Given the description of an element on the screen output the (x, y) to click on. 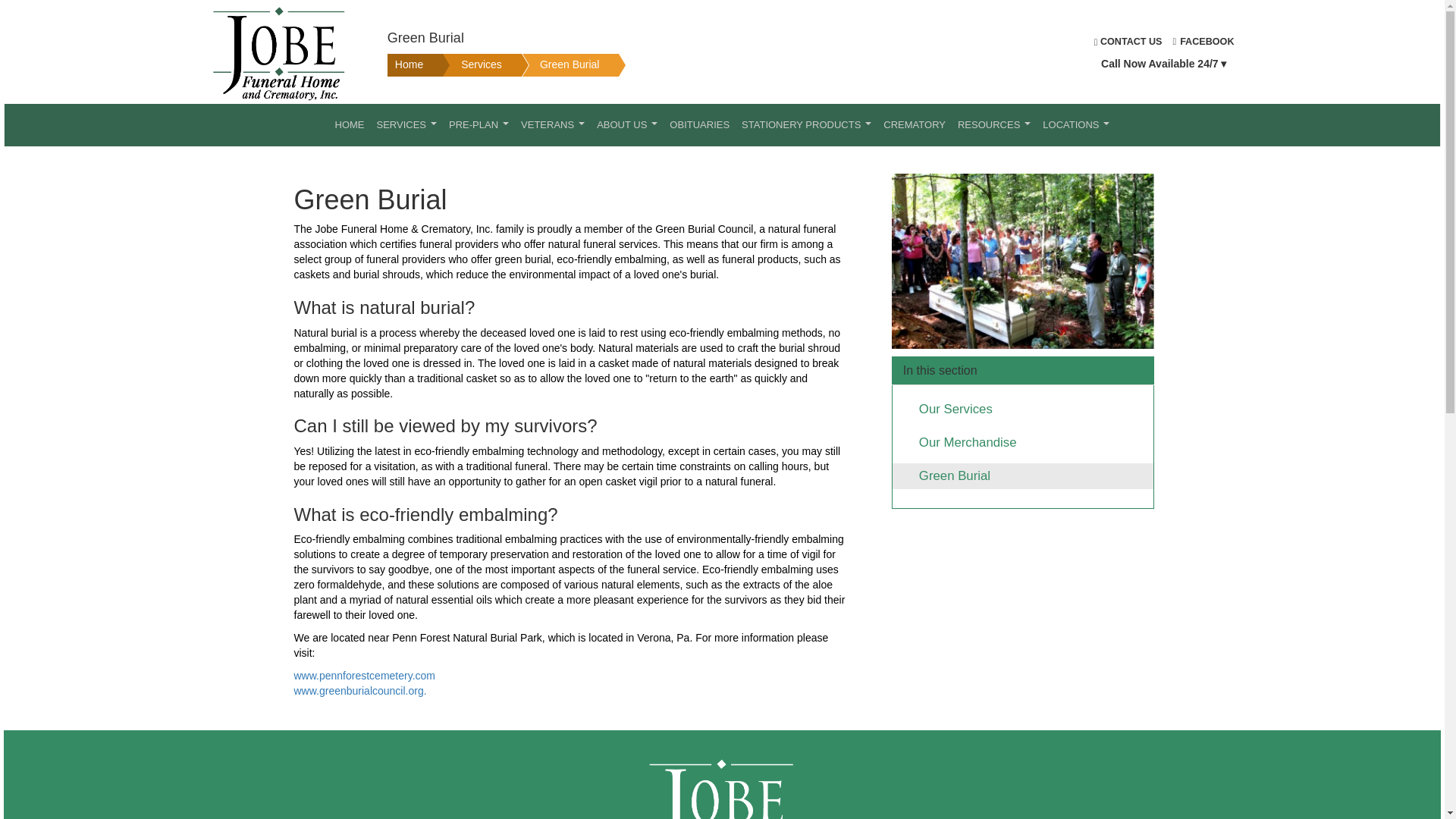
HOME (350, 125)
FACEBOOK (1203, 41)
SERVICES... (405, 125)
CONTACT US (1127, 41)
VETERANS... (553, 125)
Services (465, 65)
PRE-PLAN... (478, 125)
Green Burial (554, 65)
ABOUT US... (627, 125)
Home (406, 65)
